Given the description of an element on the screen output the (x, y) to click on. 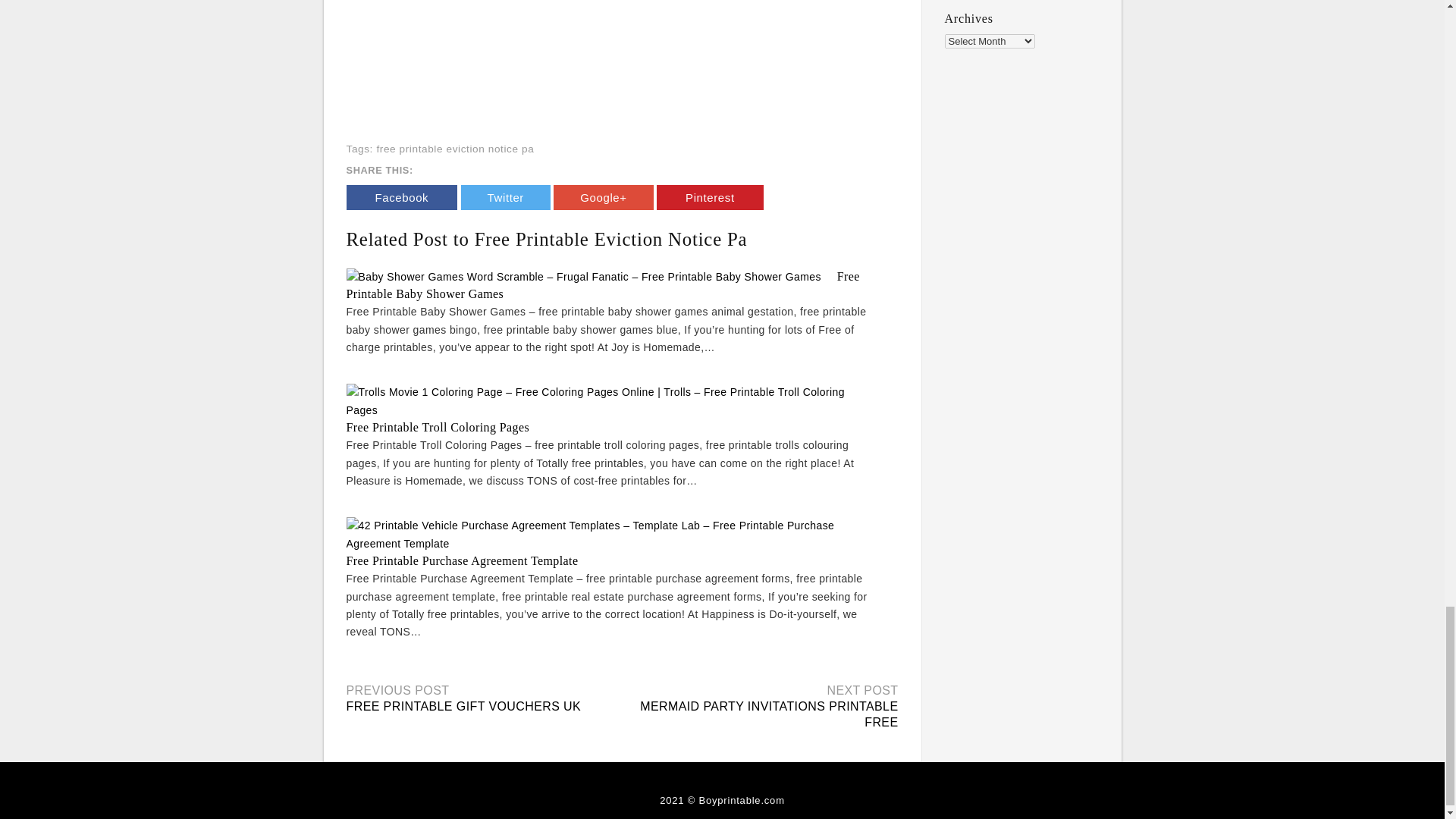
Twitter (505, 197)
FREE PRINTABLE GIFT VOUCHERS UK (463, 706)
Free Printable Baby Shower Games (602, 285)
Pinterest (709, 197)
MERMAID PARTY INVITATIONS PRINTABLE FREE (769, 714)
free printable eviction notice pa (454, 148)
Free Printable Purchase Agreement Template (462, 560)
Free Printable Baby Shower Games (602, 285)
Facebook (401, 197)
Free Printable Purchase Agreement Template (462, 560)
Free Printable Troll Coloring Pages (437, 427)
Free Printable Troll Coloring Pages (437, 427)
